Given the description of an element on the screen output the (x, y) to click on. 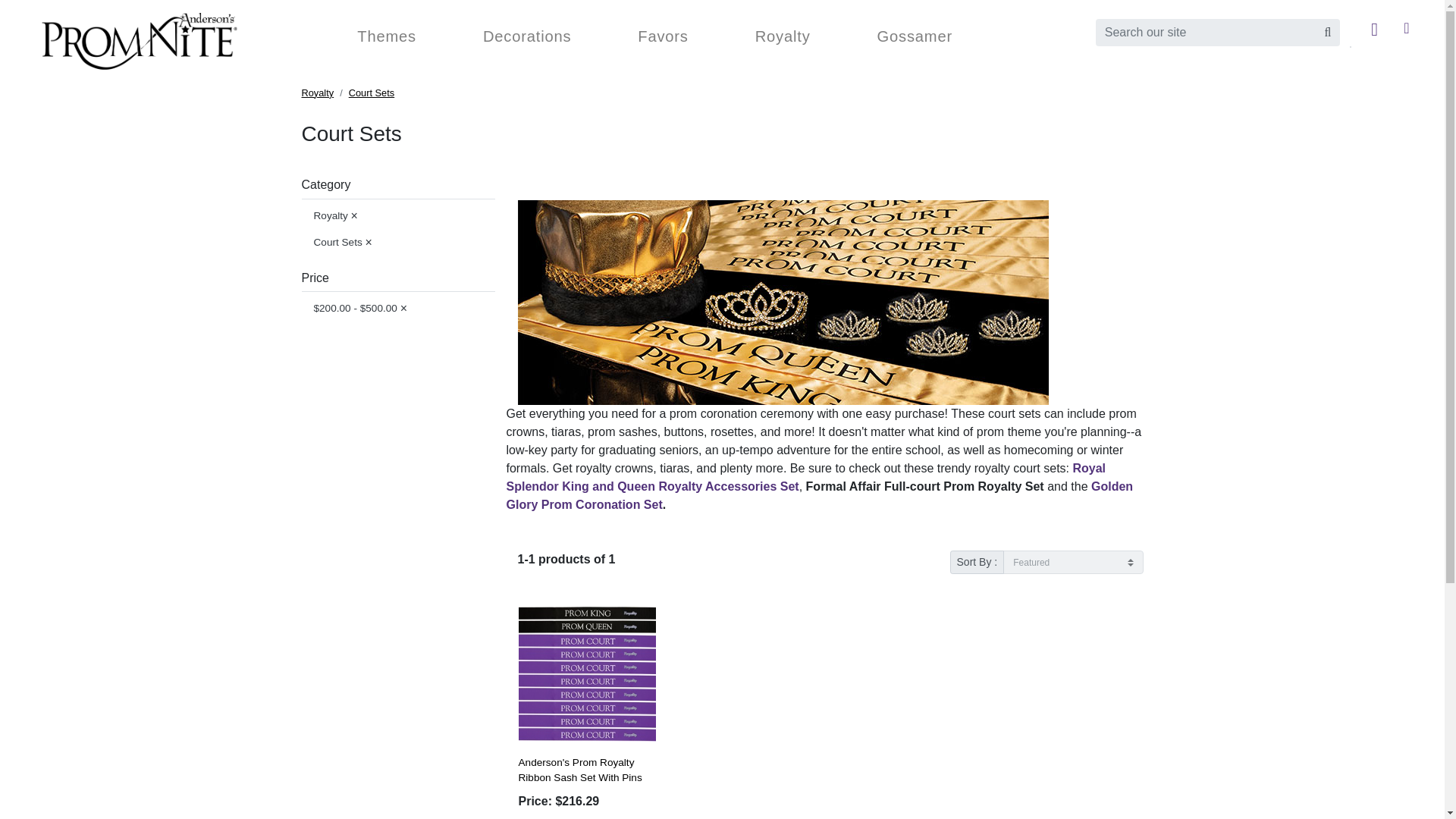
Anderson's Prom Royalty Ribbon Sash Set With Pins (587, 673)
